Given the description of an element on the screen output the (x, y) to click on. 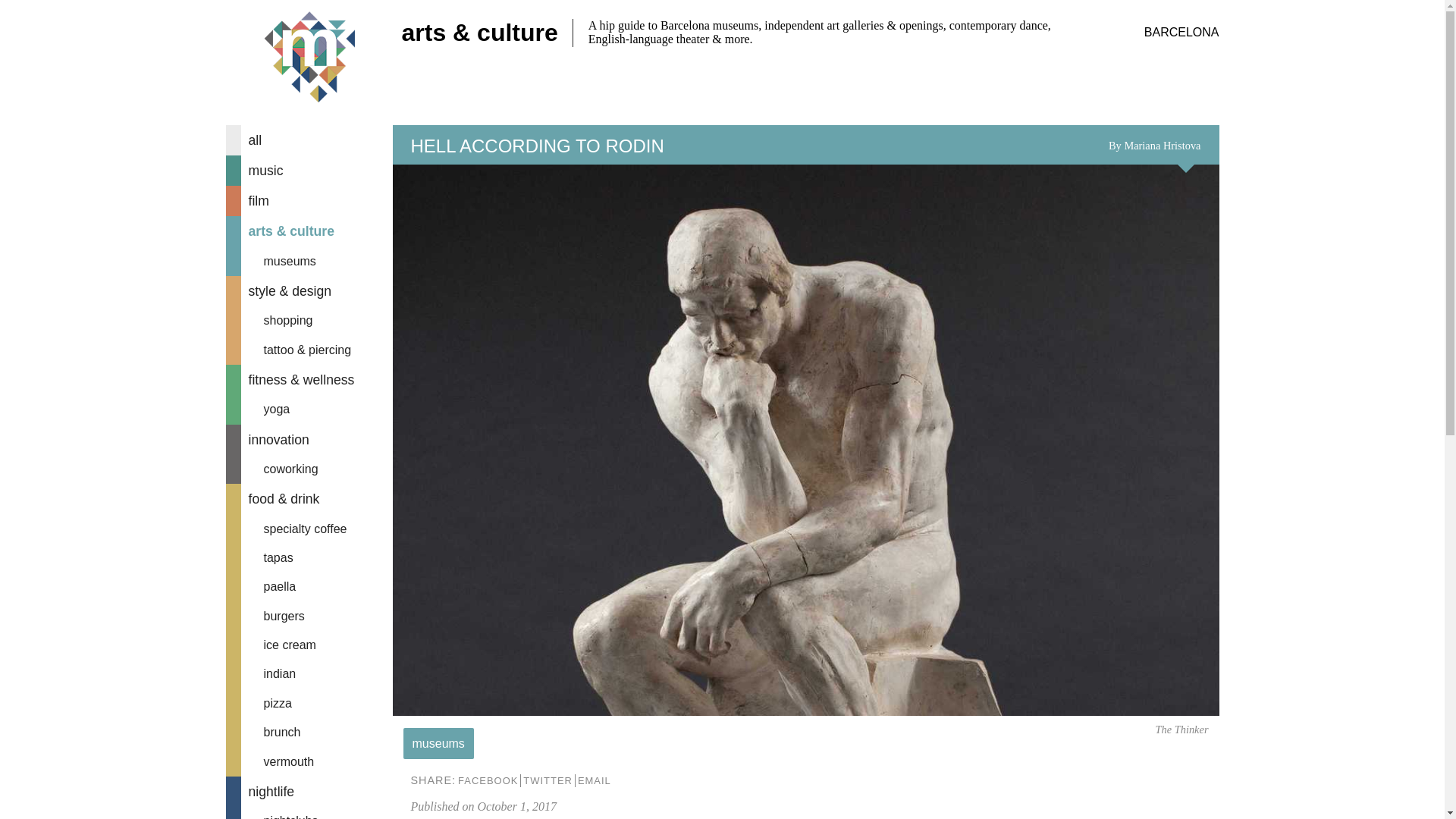
EMAIL (593, 780)
music (309, 170)
nightclubs (309, 812)
FACEBOOK (487, 780)
ice cream (309, 645)
innovation (309, 440)
paella (309, 586)
museums (309, 261)
tapas (309, 557)
brunch (309, 732)
vermouth (309, 761)
yoga (309, 409)
specialty coffee (309, 528)
coworking (309, 469)
Miniguide (309, 58)
